Given the description of an element on the screen output the (x, y) to click on. 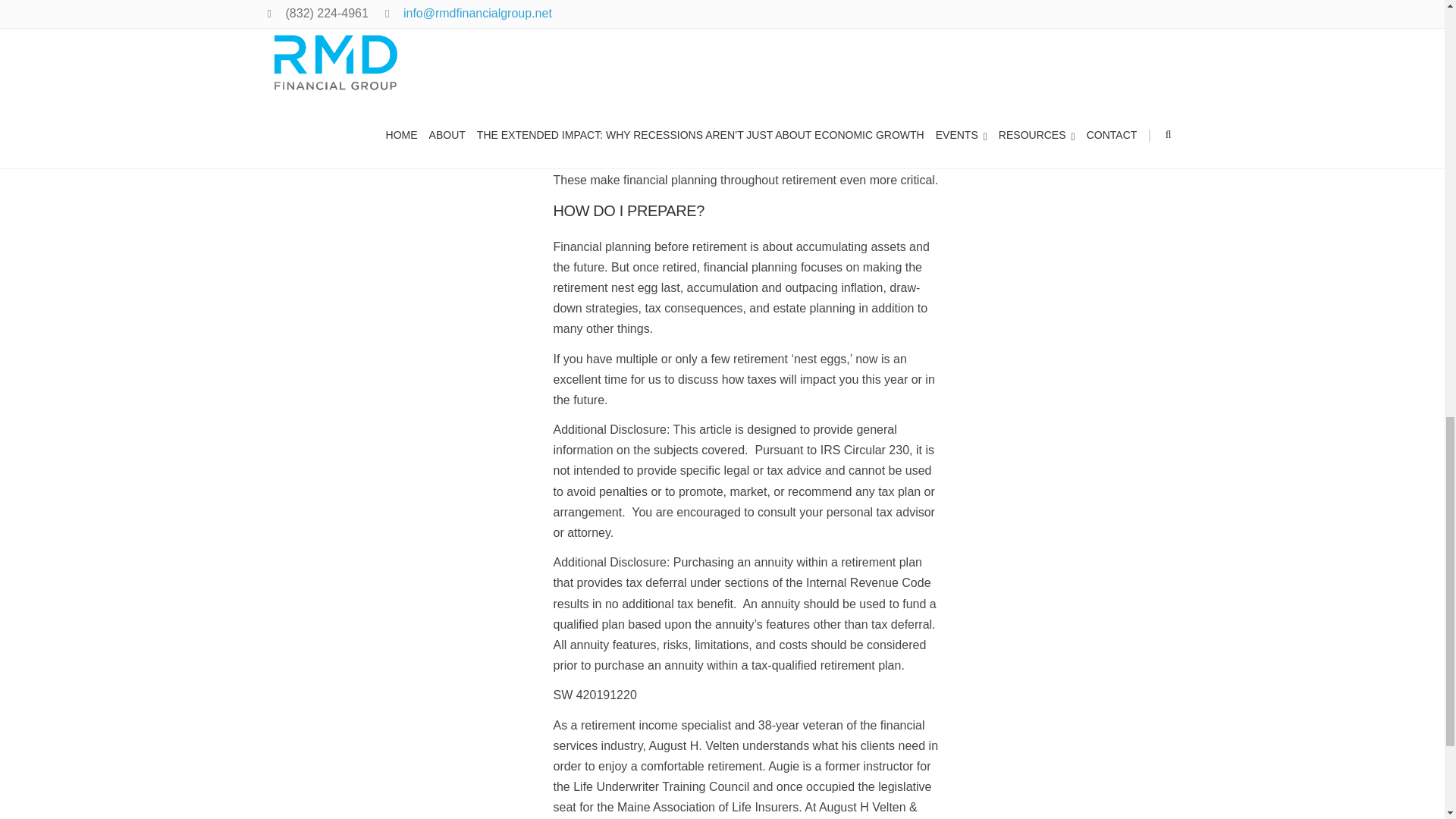
taxation consequences. (871, 159)
